Given the description of an element on the screen output the (x, y) to click on. 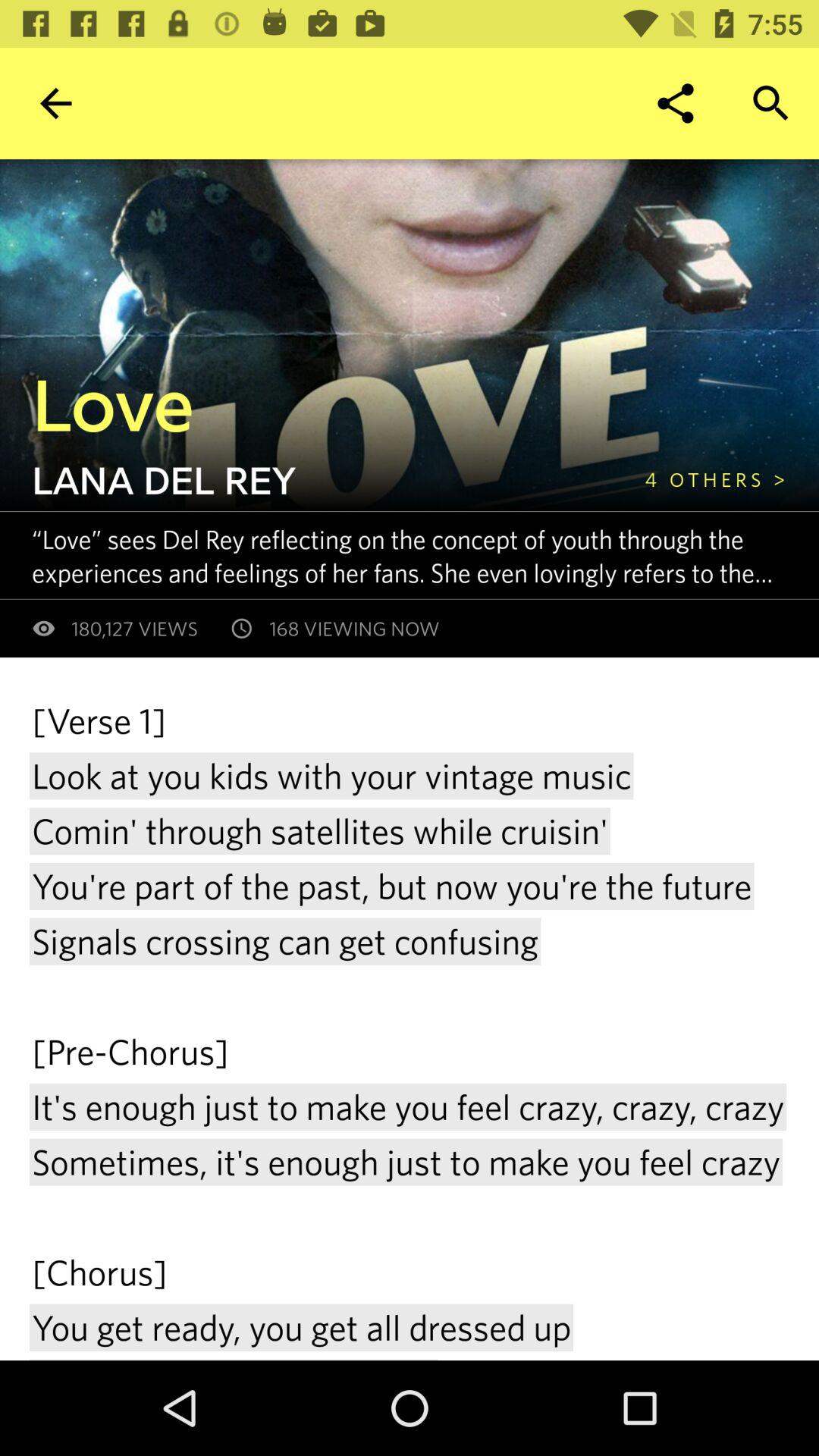
select the love sees del item (425, 554)
